Given the description of an element on the screen output the (x, y) to click on. 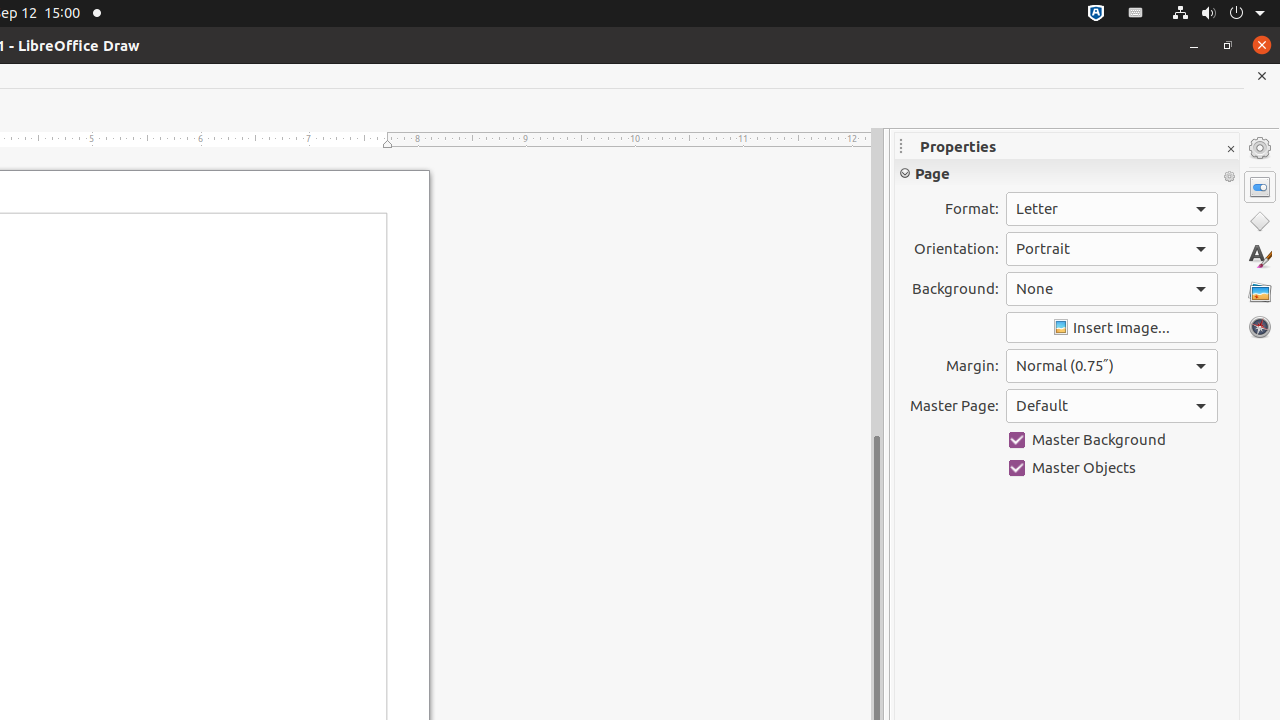
Master Objects Element type: check-box (1112, 468)
Styles Element type: radio-button (1260, 256)
Navigator Element type: radio-button (1260, 327)
Properties Element type: radio-button (1260, 187)
:1.72/StatusNotifierItem Element type: menu (1096, 13)
